Given the description of an element on the screen output the (x, y) to click on. 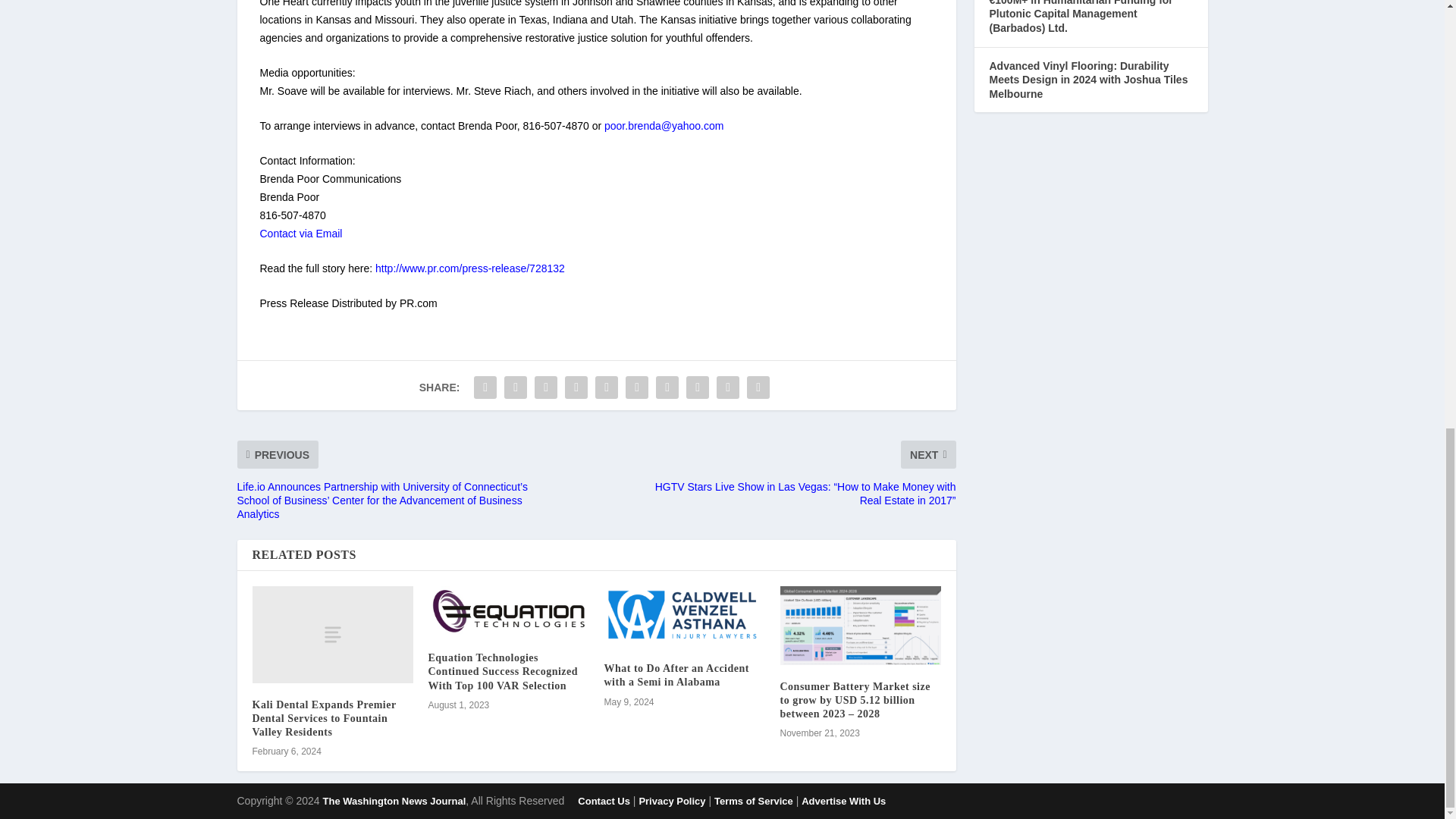
What to Do After an Accident with a Semi in Alabama (684, 616)
Contact via Email (300, 233)
